Given the description of an element on the screen output the (x, y) to click on. 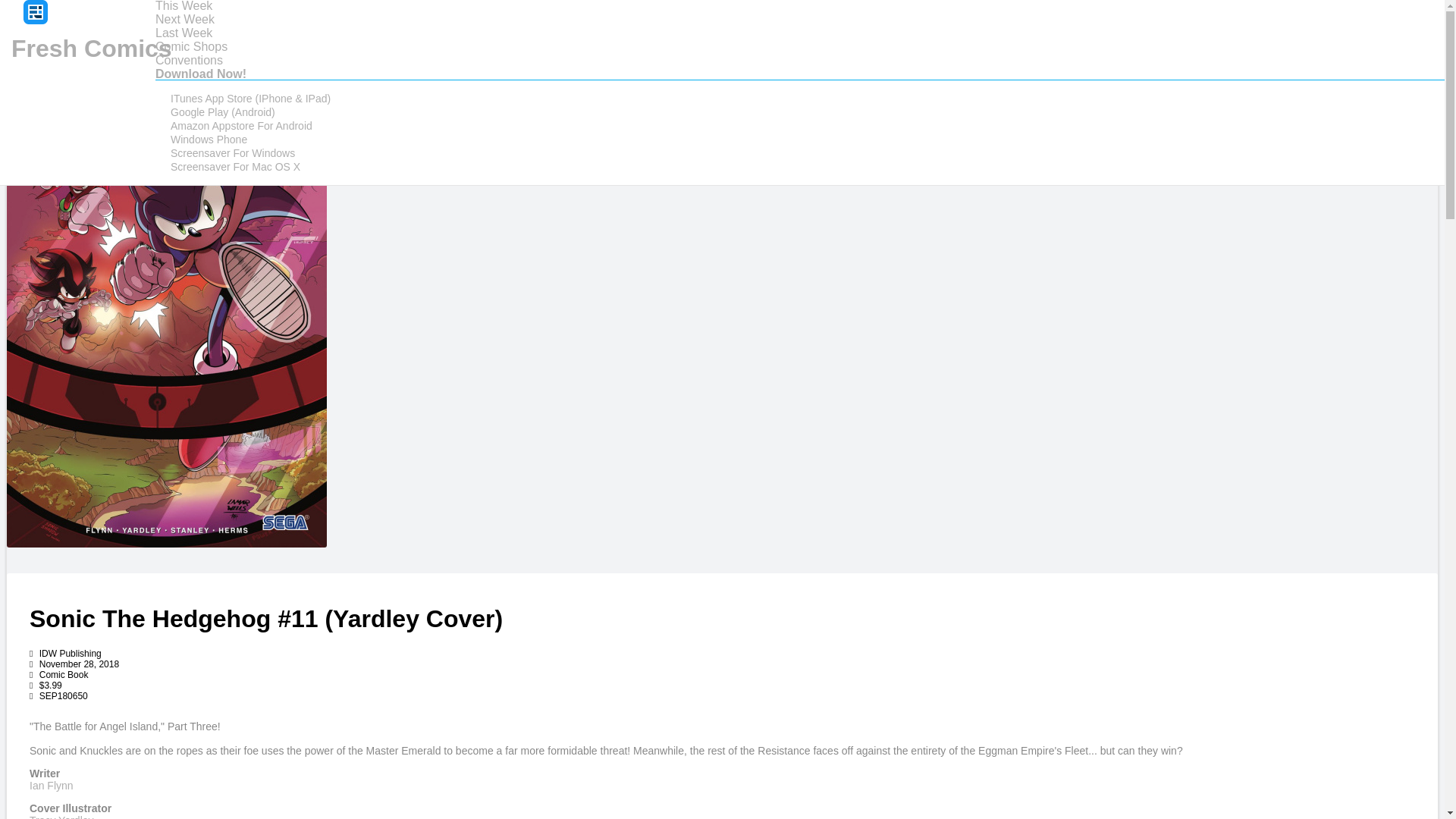
Download Now! (200, 73)
November 28, 2018 (74, 664)
Last Week (183, 32)
Conventions (188, 60)
Tracy Yardley (61, 816)
Windows Phone (208, 139)
This Week (183, 6)
Amazon Appstore For Android (241, 125)
Screensaver For Mac OS X (235, 166)
Fresh Comics (91, 48)
Screensaver For Windows (232, 152)
Next Week (184, 19)
Comic Shops (191, 46)
Ian Flynn (51, 785)
